Given the description of an element on the screen output the (x, y) to click on. 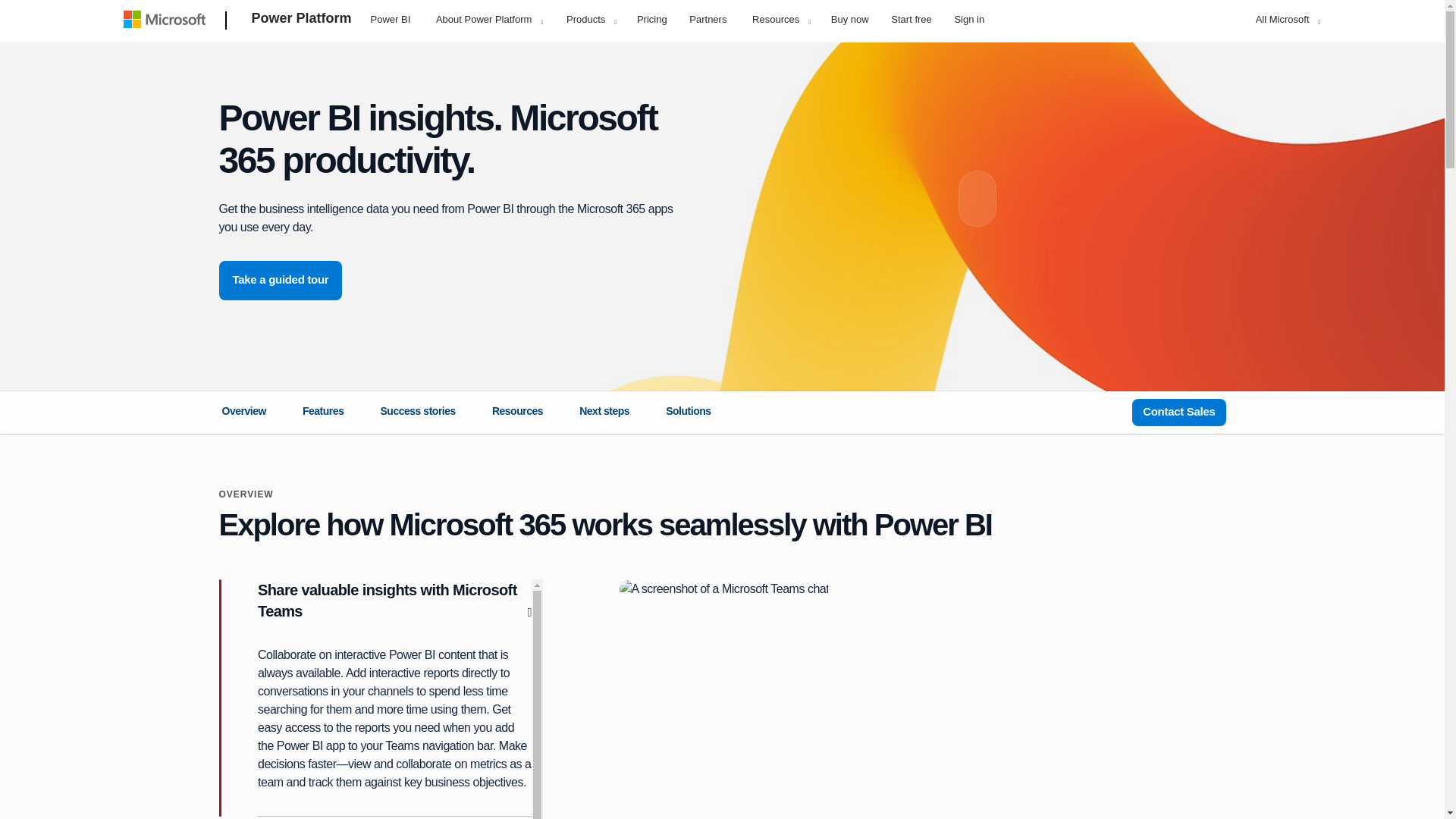
Products (590, 18)
Power Platform (301, 20)
About Power Platform (488, 18)
Start free (910, 18)
Resources (780, 18)
Microsoft (167, 20)
Buy now (850, 18)
Pricing (652, 18)
Partners (707, 18)
